Given the description of an element on the screen output the (x, y) to click on. 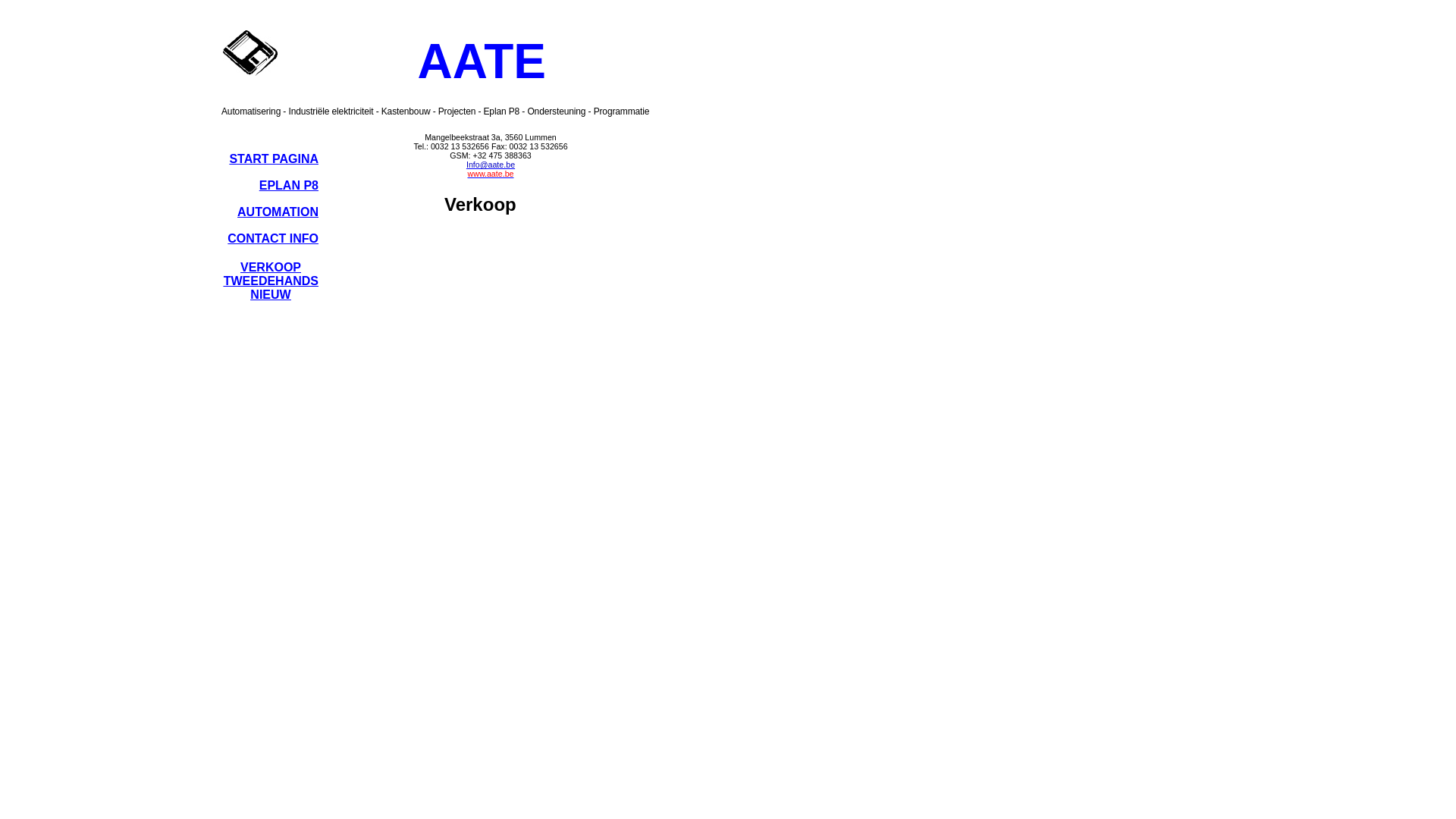
EPLAN P8 Element type: text (288, 184)
START PAGINA Element type: text (273, 158)
CONTACT INFO Element type: text (272, 238)
NIEUW Element type: text (270, 294)
VERKOOP Element type: text (270, 266)
AUTOMATION Element type: text (277, 211)
TWEEDEHANDS Element type: text (270, 280)
www.aate.be Element type: text (490, 172)
Info@aate.be Element type: text (490, 162)
